Given the description of an element on the screen output the (x, y) to click on. 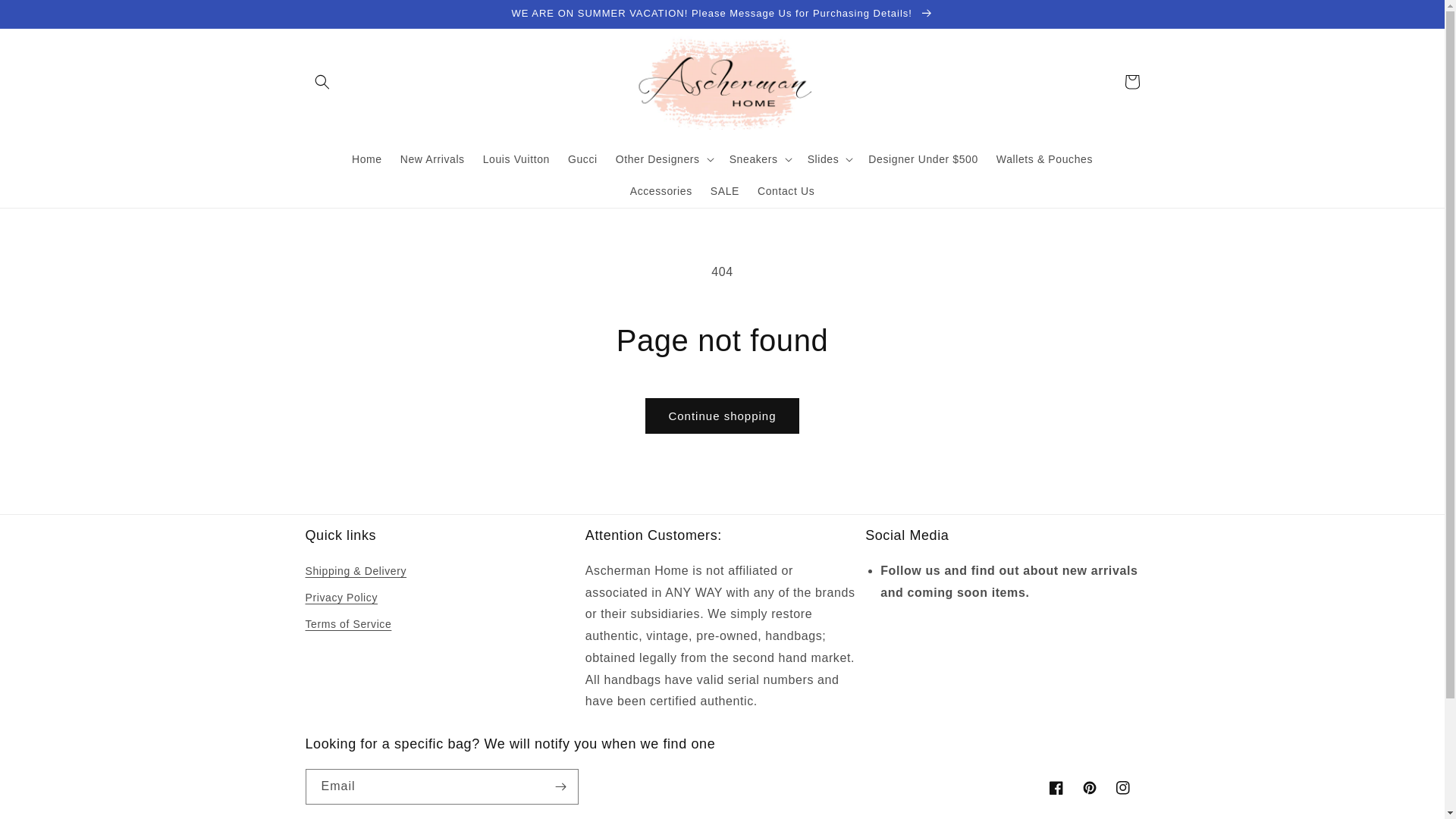
Louis Vuitton (516, 159)
New Arrivals (432, 159)
Home (366, 159)
Skip to content (45, 17)
Gucci (583, 159)
